Given the description of an element on the screen output the (x, y) to click on. 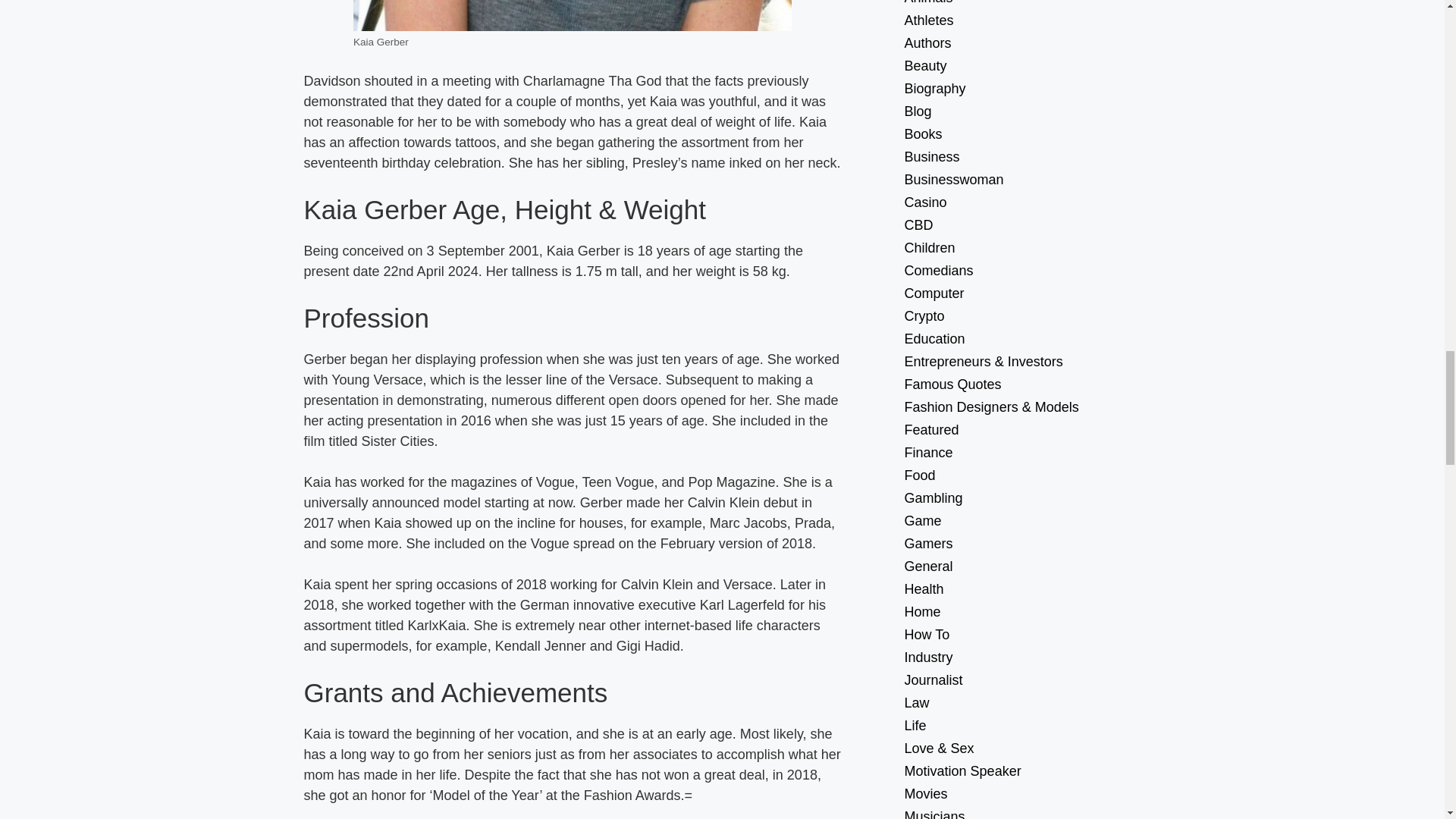
Businesswoman (1025, 179)
Blog (1025, 110)
Biography (1025, 87)
Beauty (1025, 65)
Kaia Gerber  (572, 15)
Authors (1025, 42)
Business (1025, 156)
Athletes (1025, 20)
Casino (1025, 201)
Animals (1025, 4)
Books (1025, 133)
